Given the description of an element on the screen output the (x, y) to click on. 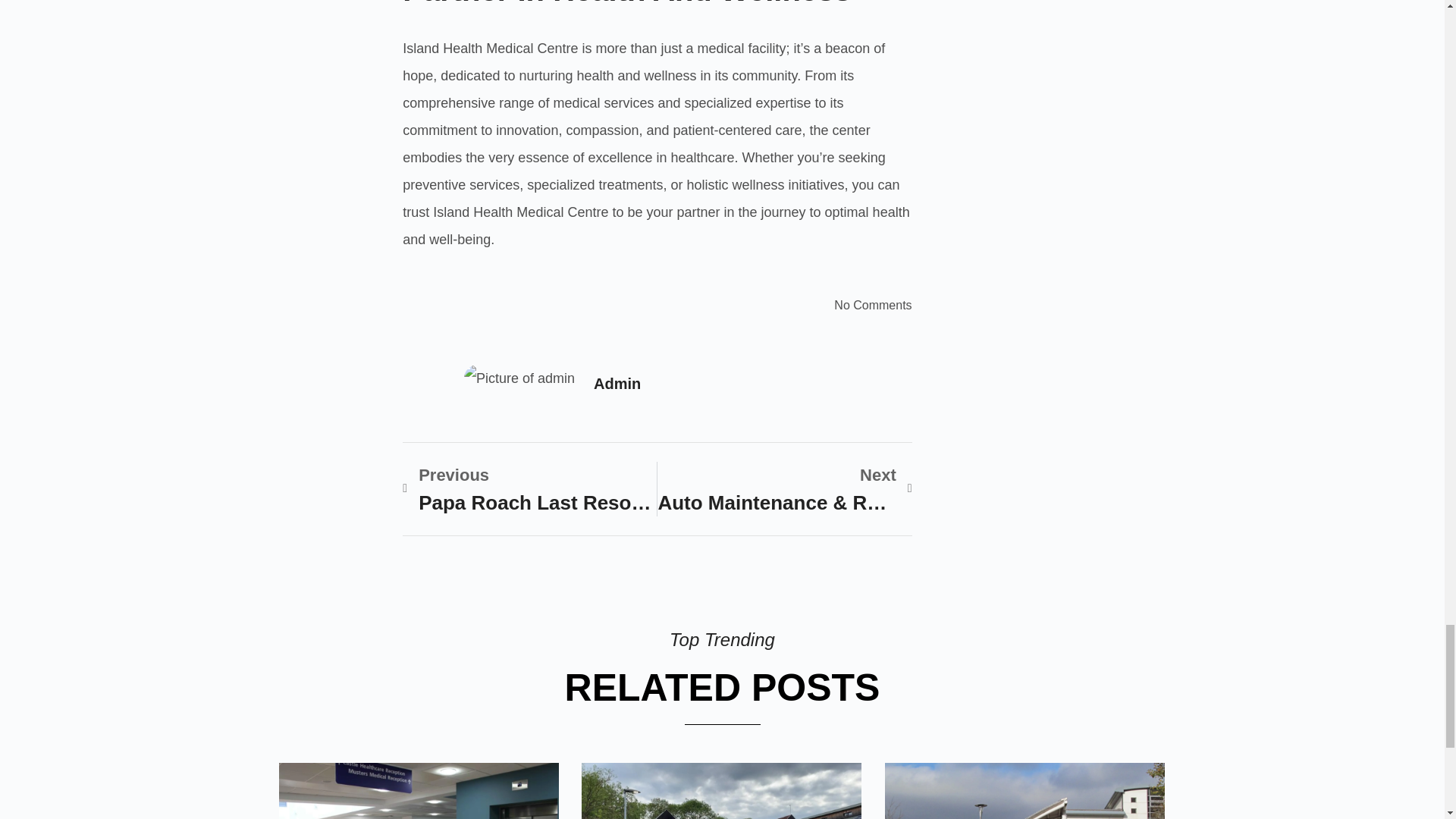
Lakeside Healthcare Corby (720, 790)
homerton university hospital (1023, 790)
castle healthcare (419, 790)
